Given the description of an element on the screen output the (x, y) to click on. 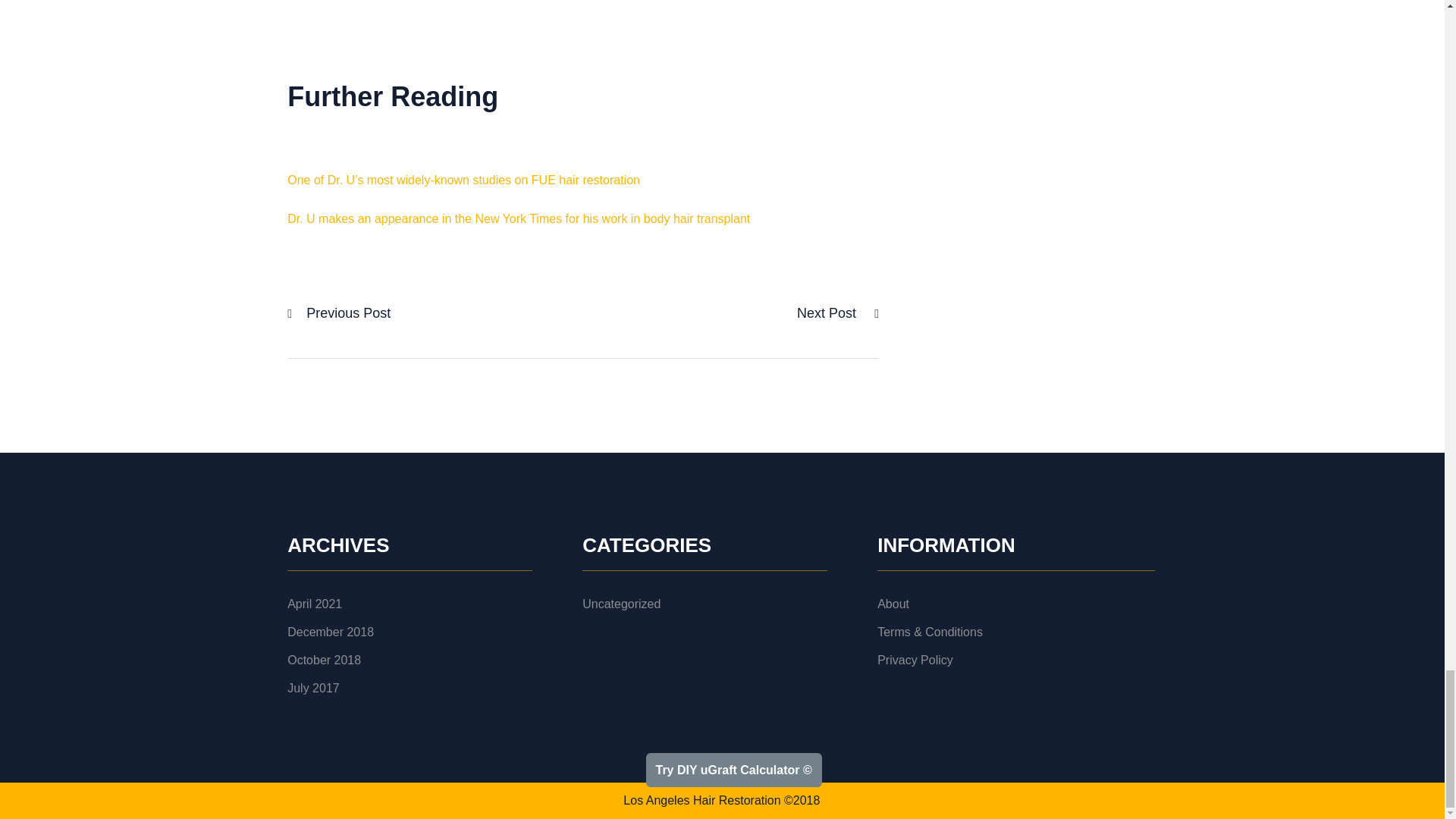
Previous Post (347, 313)
Next Post  (828, 313)
